Given the description of an element on the screen output the (x, y) to click on. 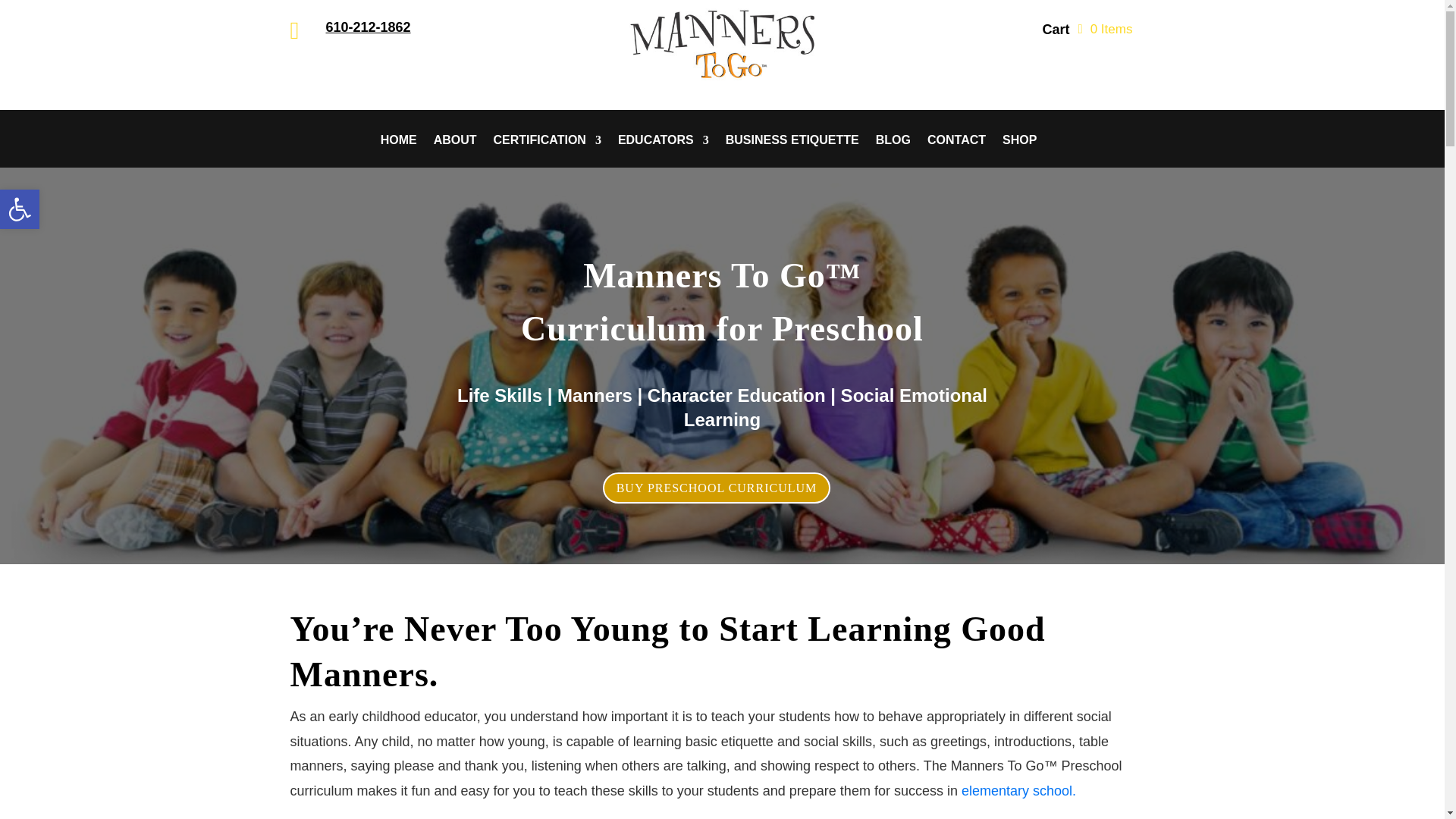
Cart (1055, 32)
Accessibility Tools (19, 209)
0 Items (1104, 29)
manners to go logo (722, 44)
610-212-1862 (368, 27)
EDUCATORS (663, 151)
CERTIFICATION (547, 151)
BUSINESS ETIQUETTE (792, 151)
ABOUT (455, 151)
HOME (398, 151)
